Given the description of an element on the screen output the (x, y) to click on. 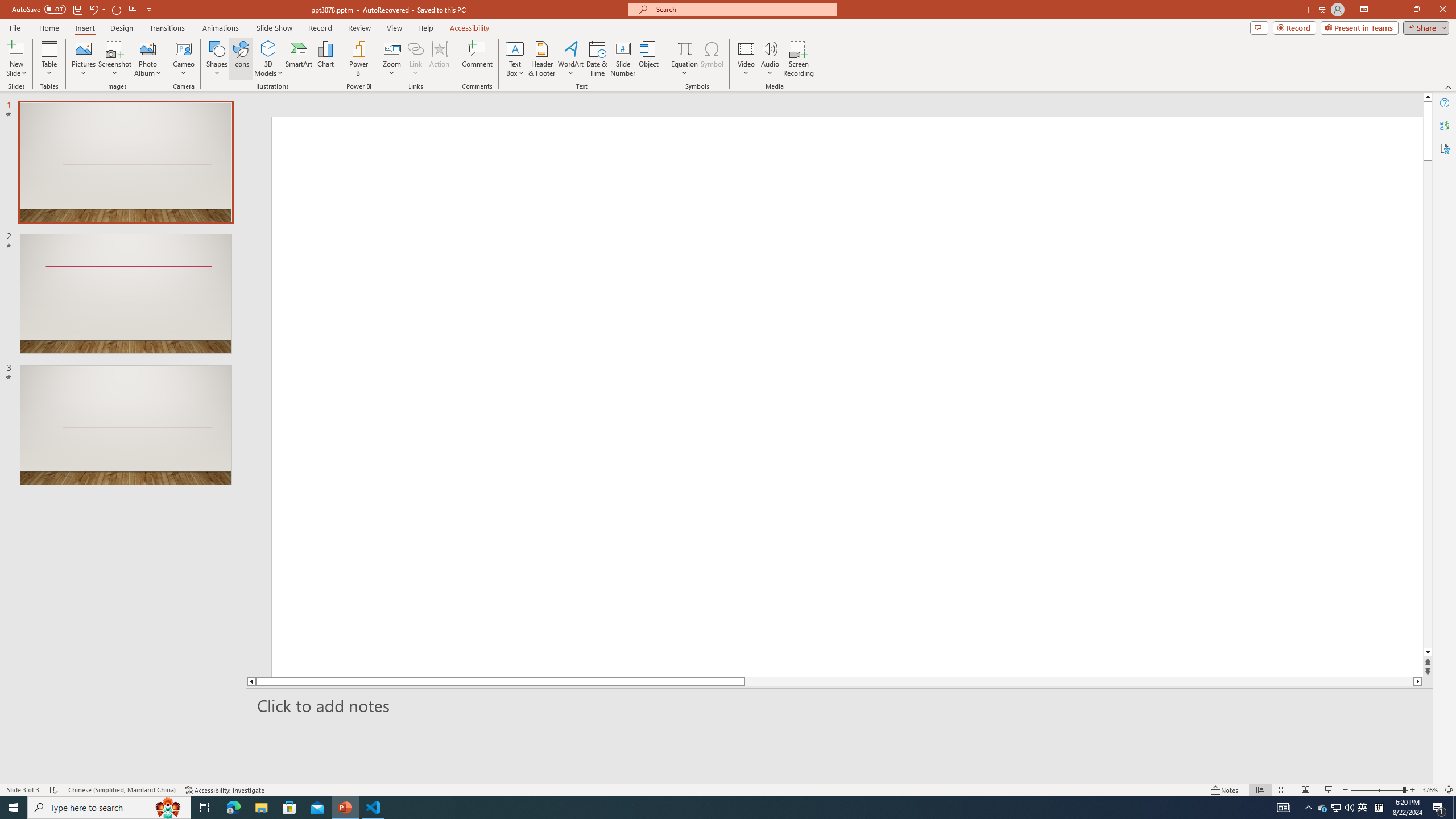
New Photo Album... (147, 48)
Video (745, 58)
Equation (683, 58)
Date & Time... (596, 58)
3D Models (268, 58)
Object... (649, 58)
Link (415, 48)
